Given the description of an element on the screen output the (x, y) to click on. 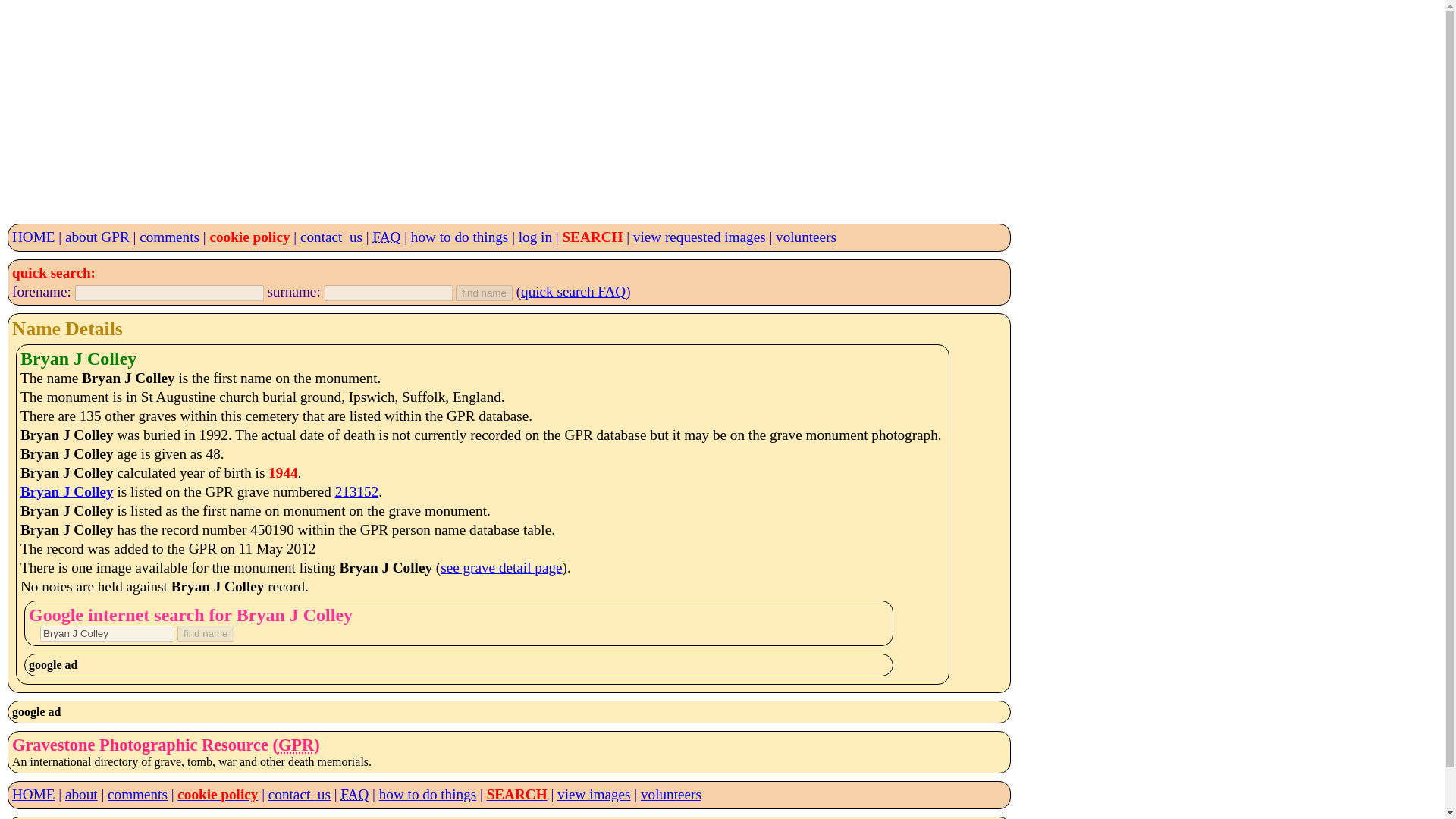
see grave detail page (501, 567)
log in (534, 236)
HOME (33, 236)
comments (137, 794)
Gravestone Photographic Resource (296, 744)
cookie policy (249, 236)
SEARCH (516, 794)
FAQ (354, 794)
HOME (33, 794)
volunteers (805, 236)
find name (205, 633)
find name (483, 293)
how to do things (427, 794)
about (81, 794)
how to do things (459, 236)
